Given the description of an element on the screen output the (x, y) to click on. 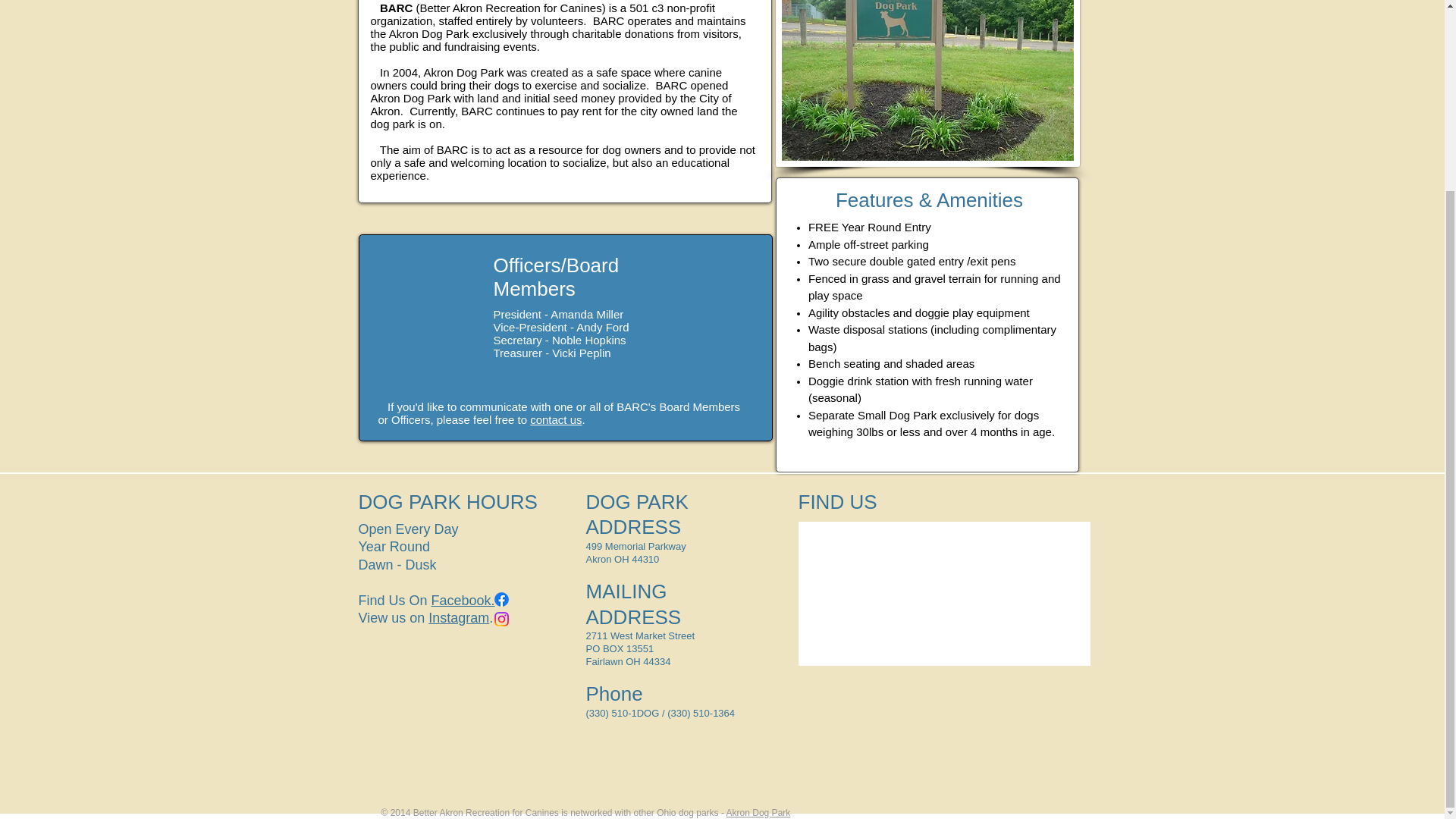
Akron Dog Park (758, 811)
Instagram (458, 617)
contact us (554, 419)
Facebook. (462, 600)
